Given the description of an element on the screen output the (x, y) to click on. 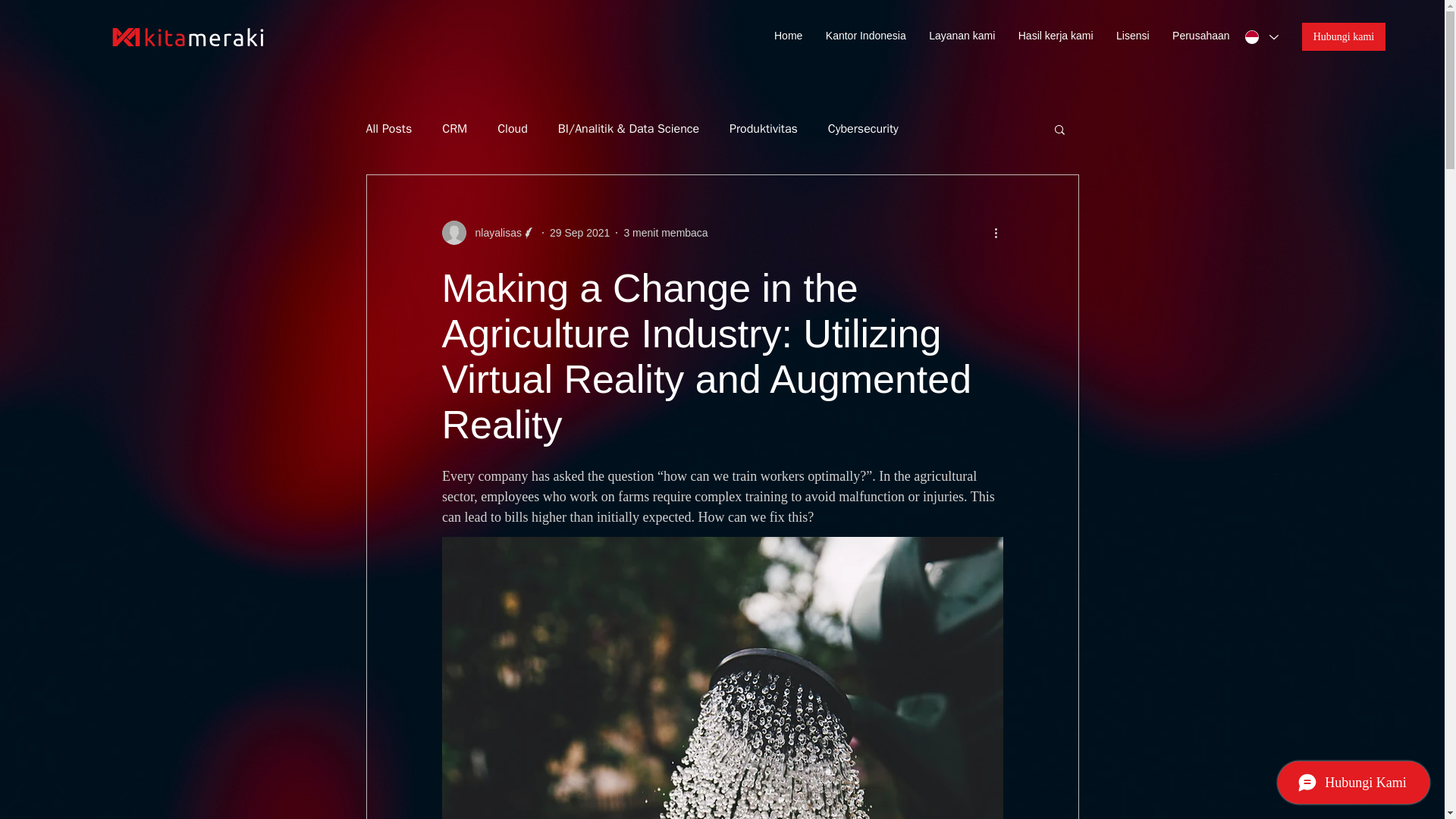
Kantor Indonesia (869, 35)
3 menit membaca (665, 232)
Lisensi (1136, 35)
nlayalisas (493, 232)
Home (792, 35)
29 Sep 2021 (580, 232)
